Given the description of an element on the screen output the (x, y) to click on. 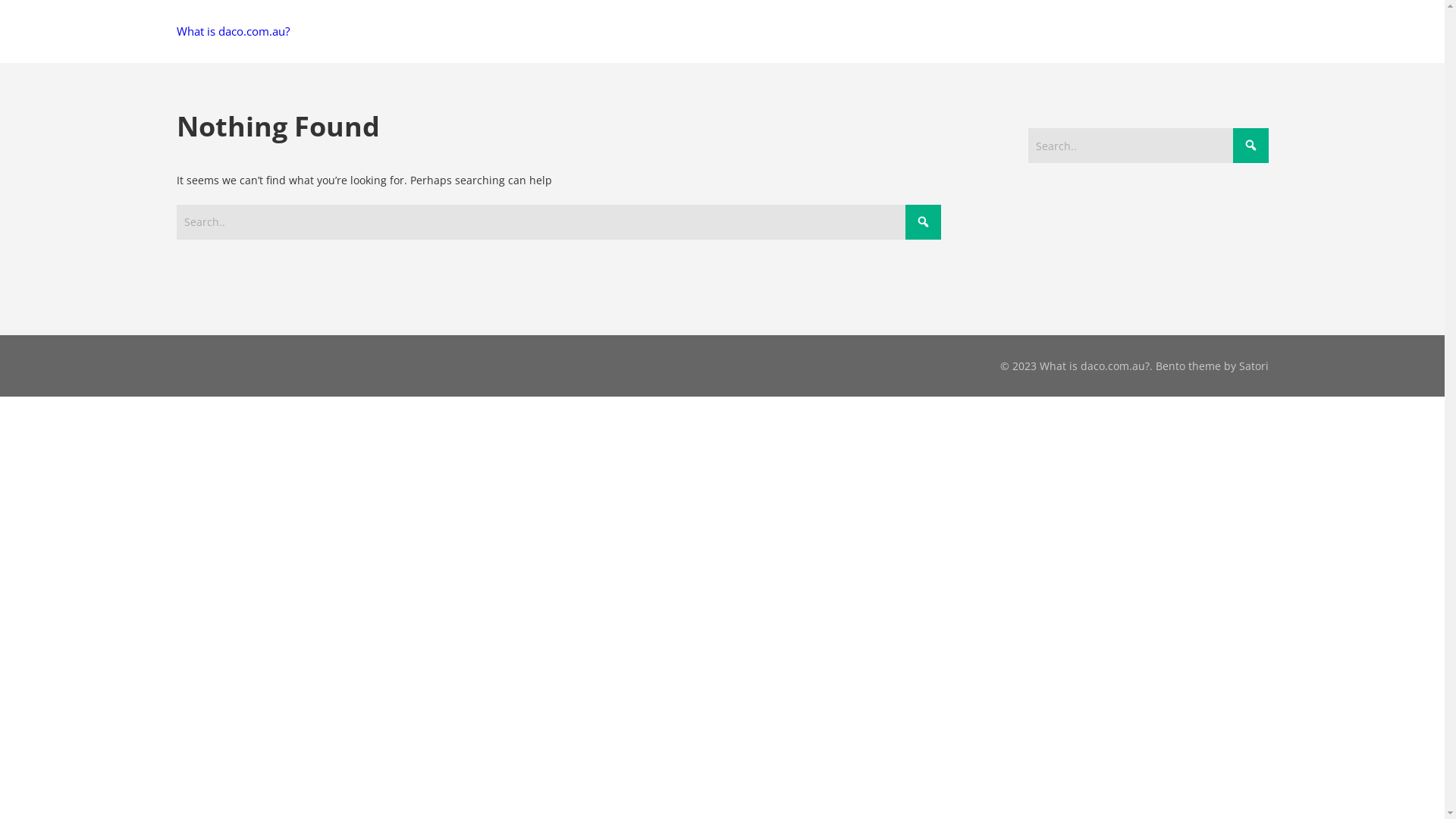
What is daco.com.au? Element type: text (231, 31)
